Given the description of an element on the screen output the (x, y) to click on. 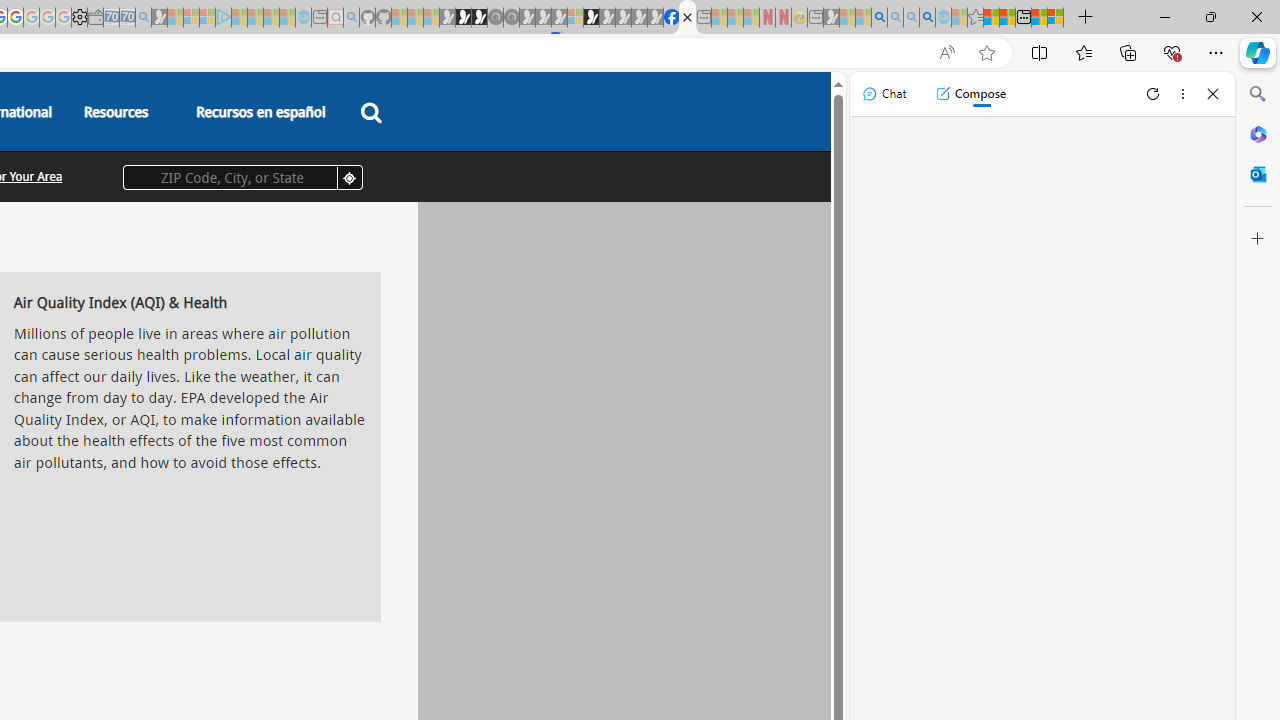
Google Chrome Internet Browser Download - Search Images (927, 17)
Bing Real Estate - Home sales and rental listings - Sleeping (143, 17)
Play Zoo Boom in your browser | Games from Microsoft Start (463, 17)
